Given the description of an element on the screen output the (x, y) to click on. 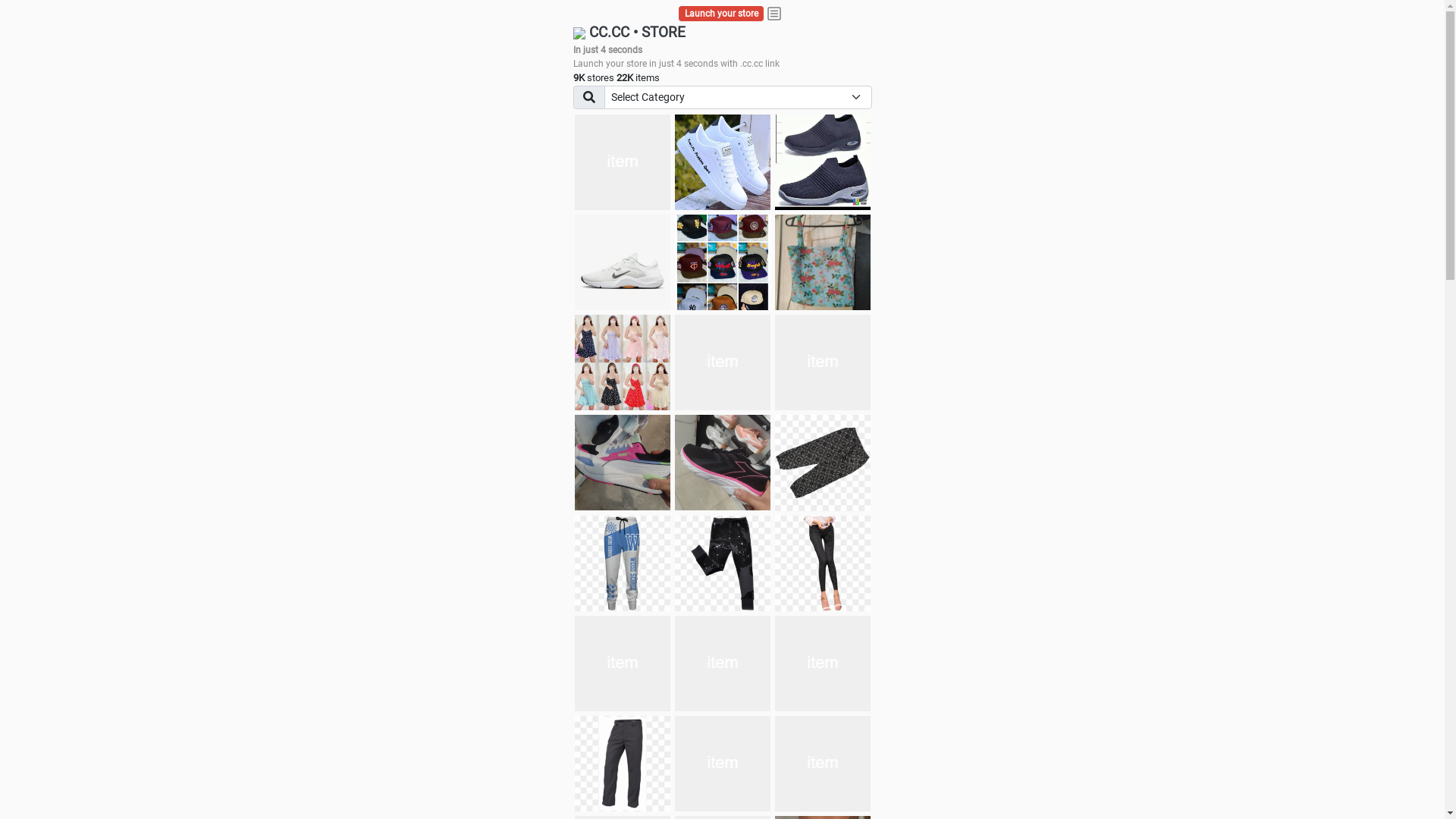
Pant Element type: hover (622, 763)
Zapatillas pumas Element type: hover (622, 462)
Pant Element type: hover (722, 663)
Shoe Element type: hover (822, 763)
Pant Element type: hover (722, 763)
Pant Element type: hover (822, 563)
Short pant Element type: hover (822, 462)
Pant Element type: hover (822, 663)
Things we need Element type: hover (722, 262)
Ukay cloth Element type: hover (822, 262)
Shoes Element type: hover (722, 362)
Pant Element type: hover (622, 563)
jacket Element type: hover (622, 162)
shoes for boys Element type: hover (822, 162)
Dress/square nect top Element type: hover (622, 362)
Pant Element type: hover (722, 563)
white shoes Element type: hover (722, 162)
Pant Element type: hover (622, 663)
Zapatillas Element type: hover (722, 462)
Launch your store Element type: text (721, 13)
Shoes for boys Element type: hover (622, 262)
